Given the description of an element on the screen output the (x, y) to click on. 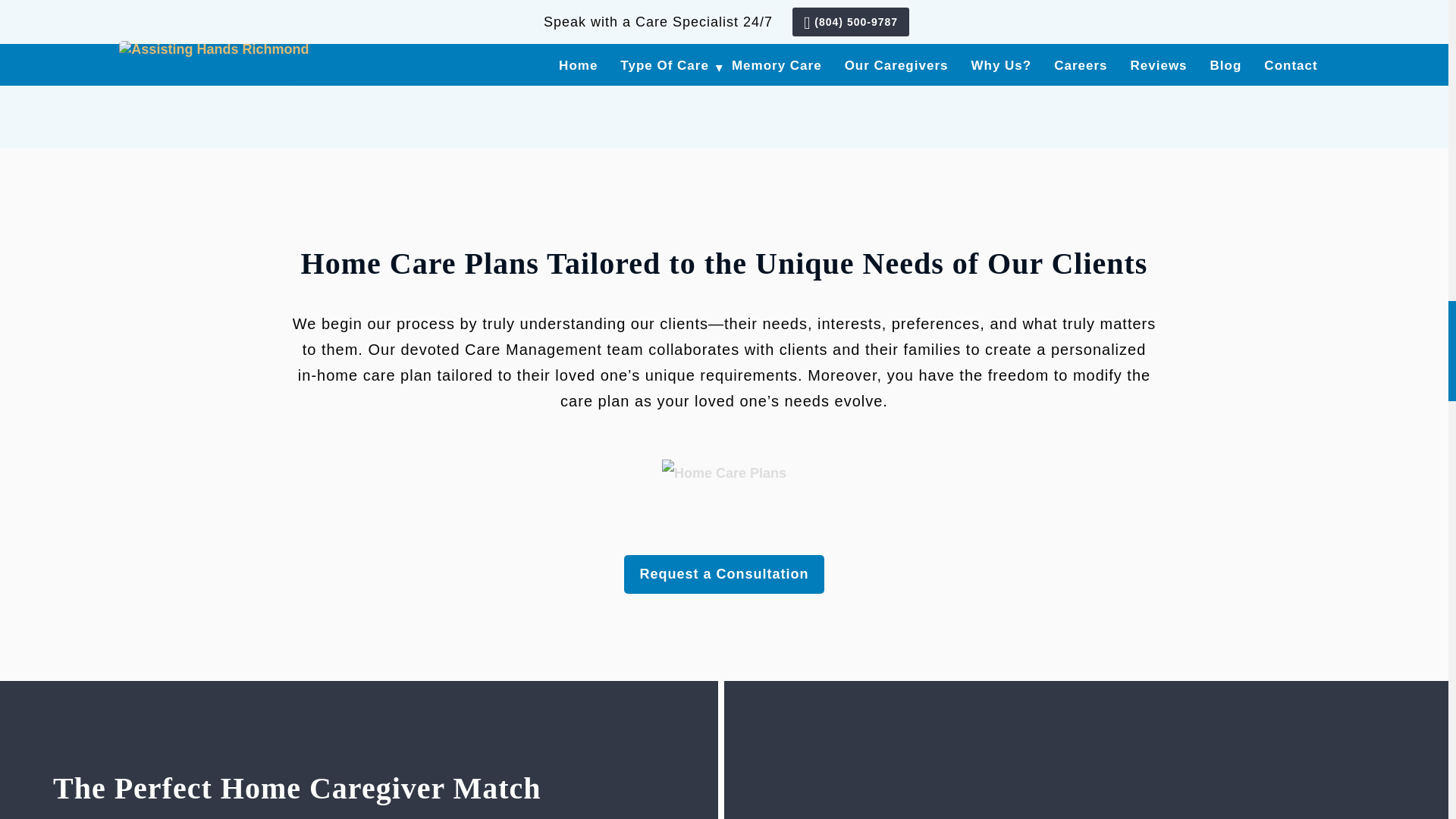
Request a Consultation (724, 574)
Request a Consultation (724, 41)
